Given the description of an element on the screen output the (x, y) to click on. 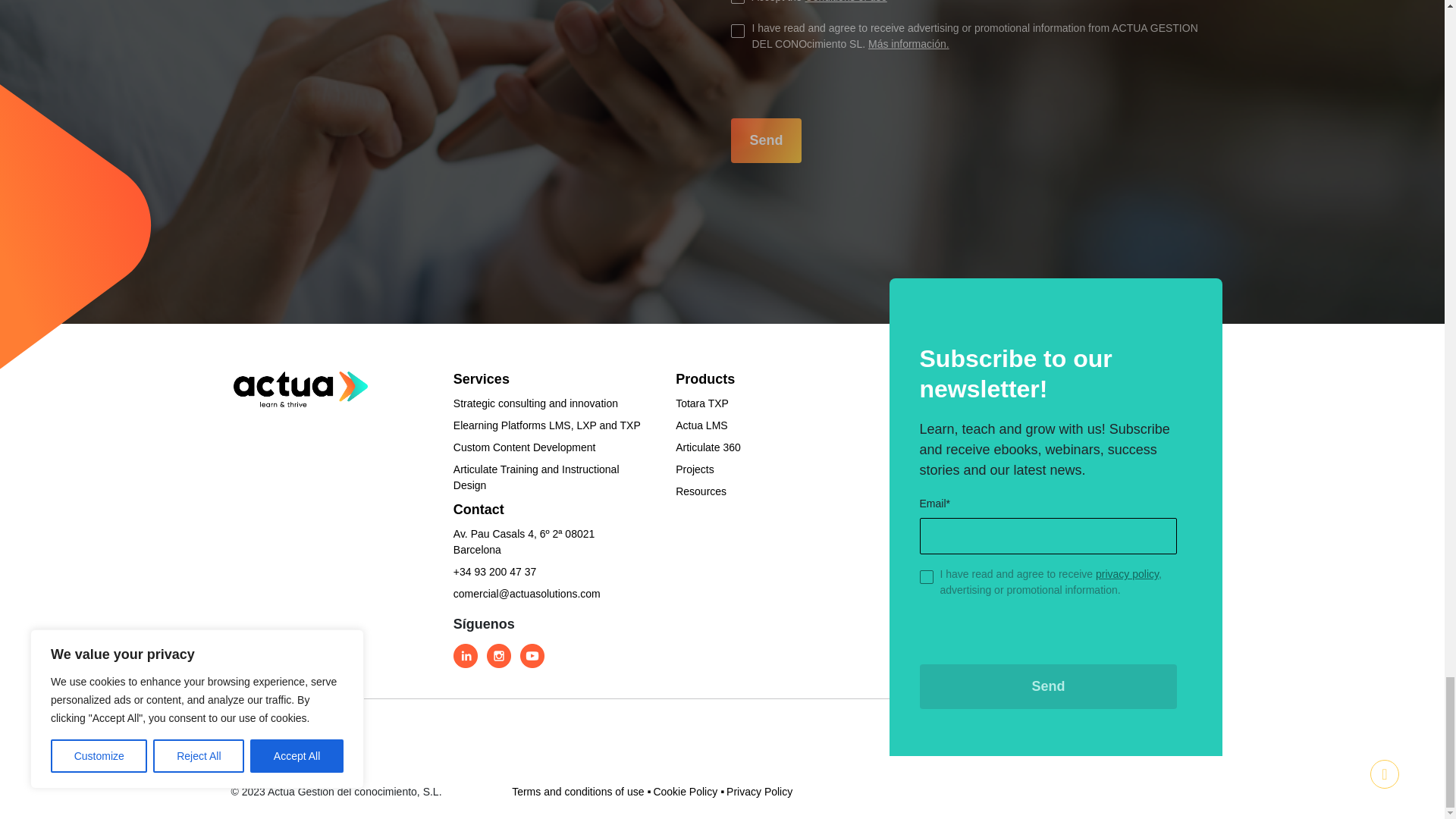
on (737, 2)
on (737, 30)
on (925, 576)
